Given the description of an element on the screen output the (x, y) to click on. 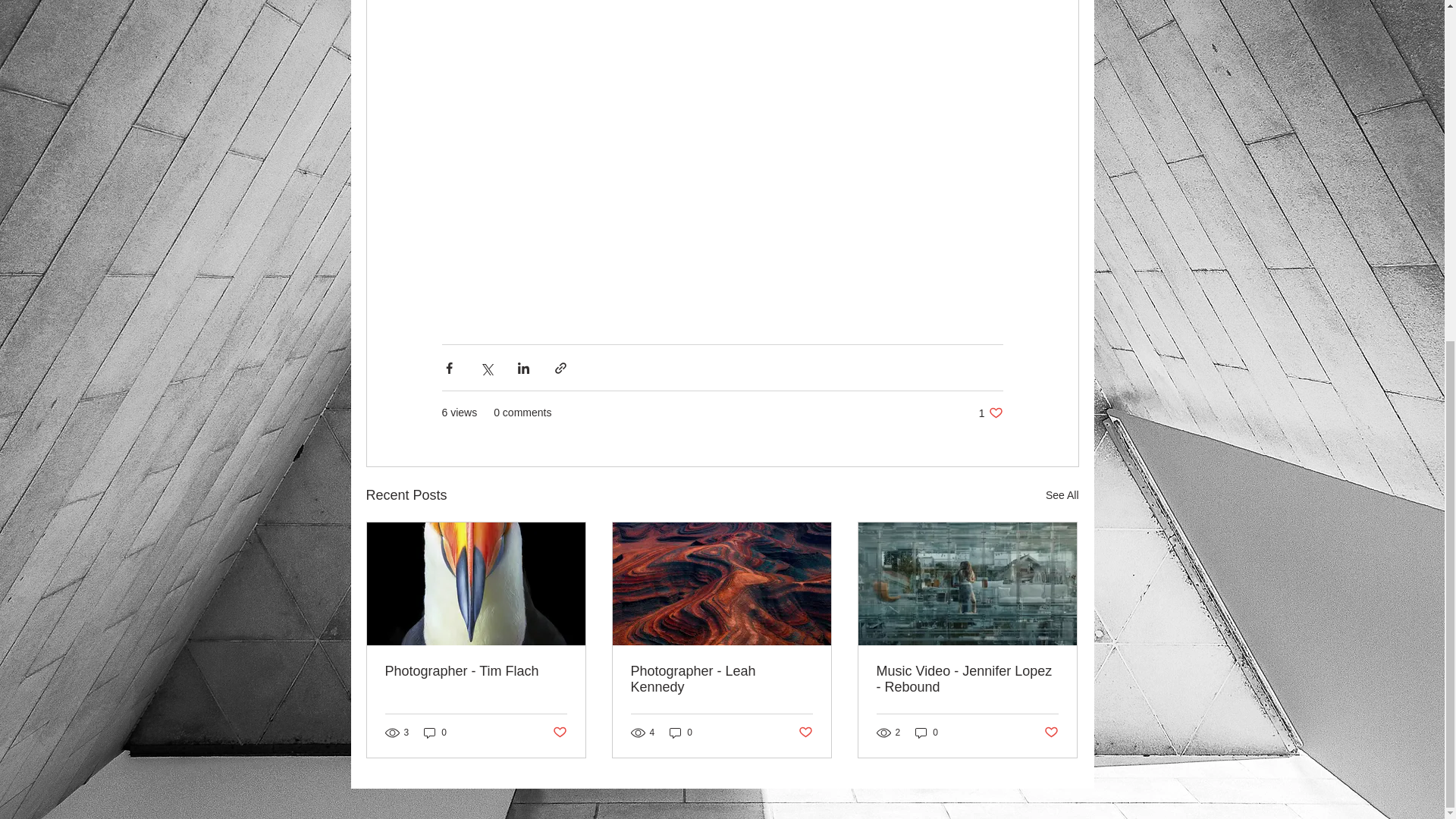
See All (1061, 495)
0 (435, 732)
0 (926, 732)
Photographer - Tim Flach (476, 671)
0 (681, 732)
Photographer - Leah Kennedy (721, 679)
Post not marked as liked (1050, 732)
Music Video - Jennifer Lopez - Rebound (967, 679)
Post not marked as liked (990, 412)
Post not marked as liked (804, 732)
